Given the description of an element on the screen output the (x, y) to click on. 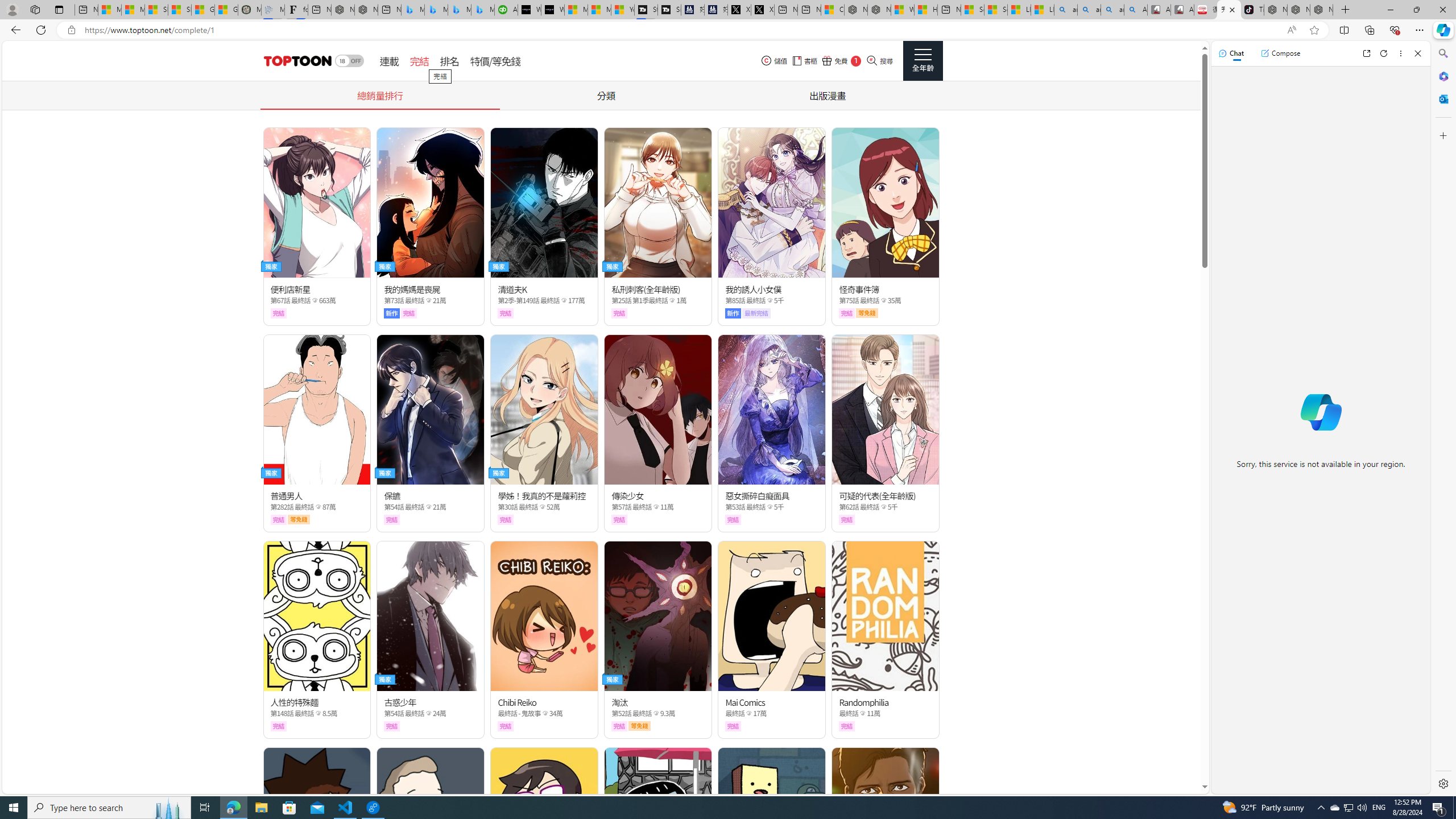
Nordace - #1 Japanese Best-Seller - Siena Smart Backpack (365, 9)
Gilma and Hector both pose tropical trouble for Hawaii (226, 9)
Settings (1442, 783)
Shanghai, China weather forecast | Microsoft Weather (179, 9)
More options (1401, 53)
Microsoft 365 (1442, 76)
